Given the description of an element on the screen output the (x, y) to click on. 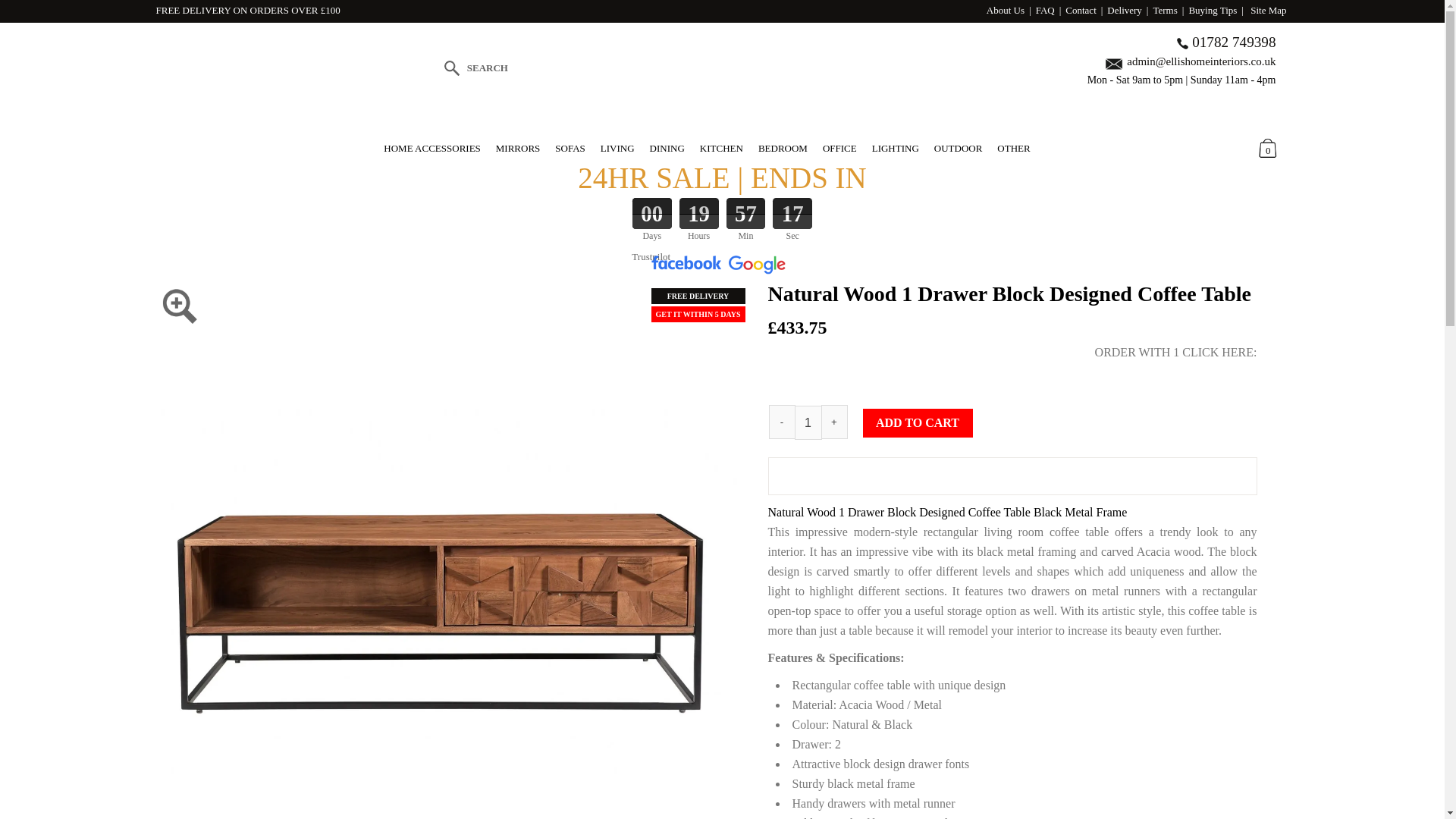
Delivery (1123, 9)
01782 749398 (1233, 41)
Buying Tips (1212, 9)
About Us (1006, 9)
Terms (1164, 9)
Site Map (1267, 9)
Natural Wood 1 Drawer Block Designed Coffee Table (448, 287)
HOME ACCESSORIES (432, 147)
Contact (1080, 9)
